Given the description of an element on the screen output the (x, y) to click on. 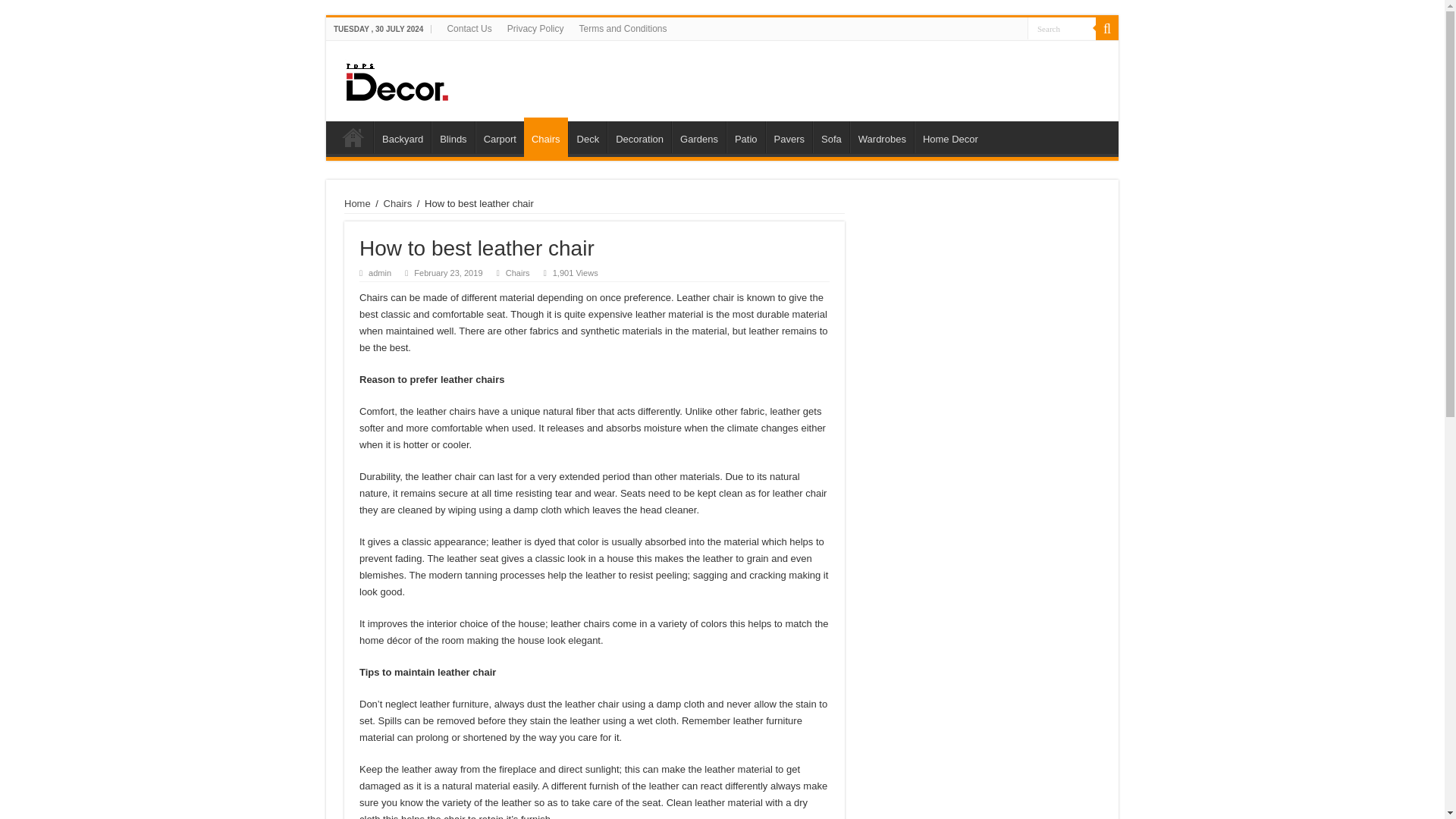
Wardrobes (882, 137)
Chairs (545, 137)
Carport (500, 137)
Chairs (517, 272)
admin (379, 272)
Search (1061, 28)
Home (352, 137)
Home Decor (949, 137)
Deck (588, 137)
Search (1107, 28)
TopsDecor.com (583, 77)
Gardens (698, 137)
Search (1061, 28)
Sofa (830, 137)
Pavers (788, 137)
